Given the description of an element on the screen output the (x, y) to click on. 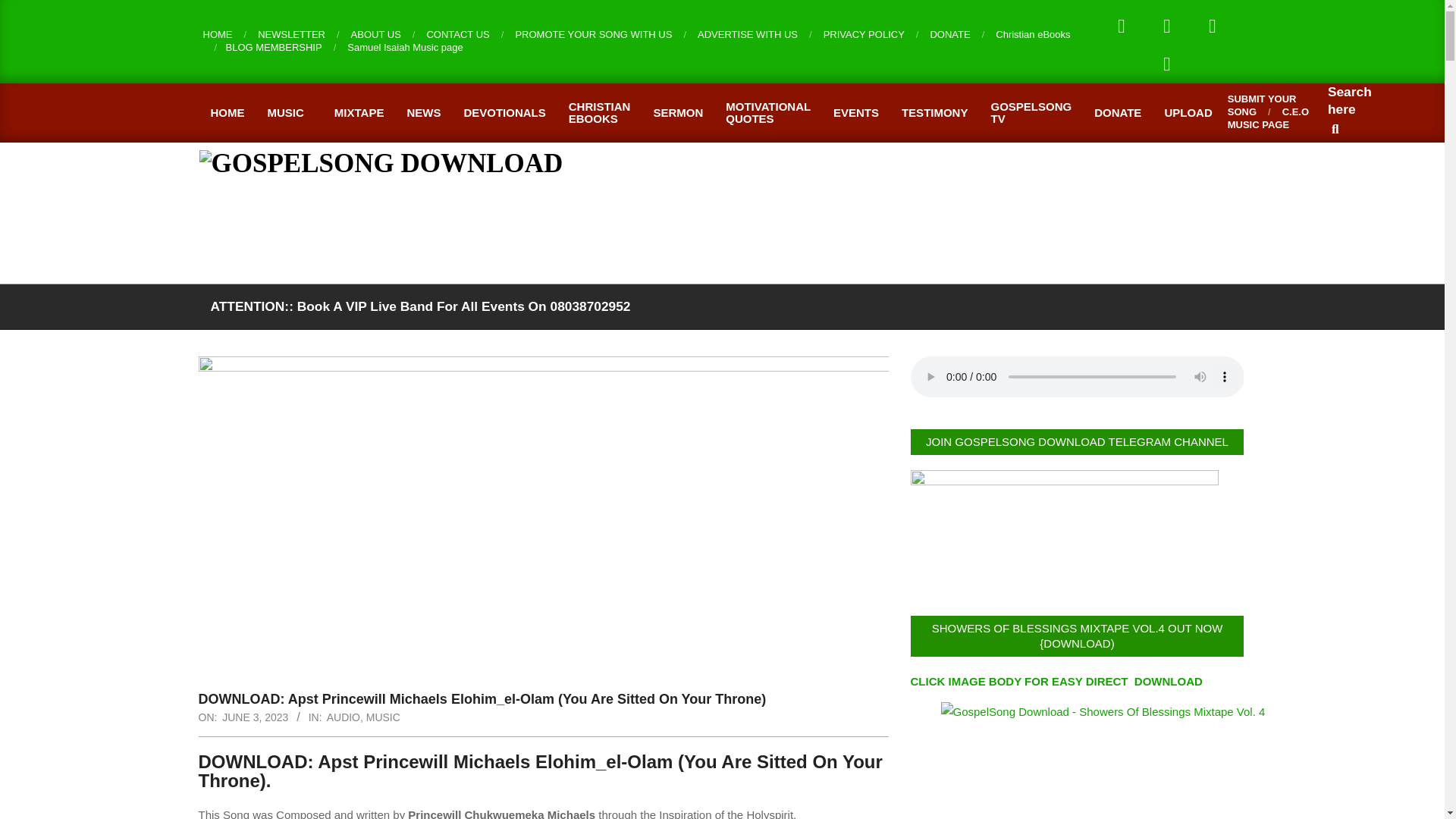
DONATE (949, 34)
NEWS (422, 112)
DONATE (1118, 112)
CONTACT US (457, 34)
ABOUT US (375, 34)
Samuel Isaiah Music page (405, 47)
SERMON (678, 112)
MOTIVATIONAL QUOTES (768, 112)
MIXTAPE (359, 112)
TESTIMONY (934, 112)
SUBMIT YOUR SONG (1262, 105)
MUSIC (289, 112)
BLOG MEMBERSHIP (273, 47)
PROMOTE YOUR SONG WITH US (593, 34)
